Given the description of an element on the screen output the (x, y) to click on. 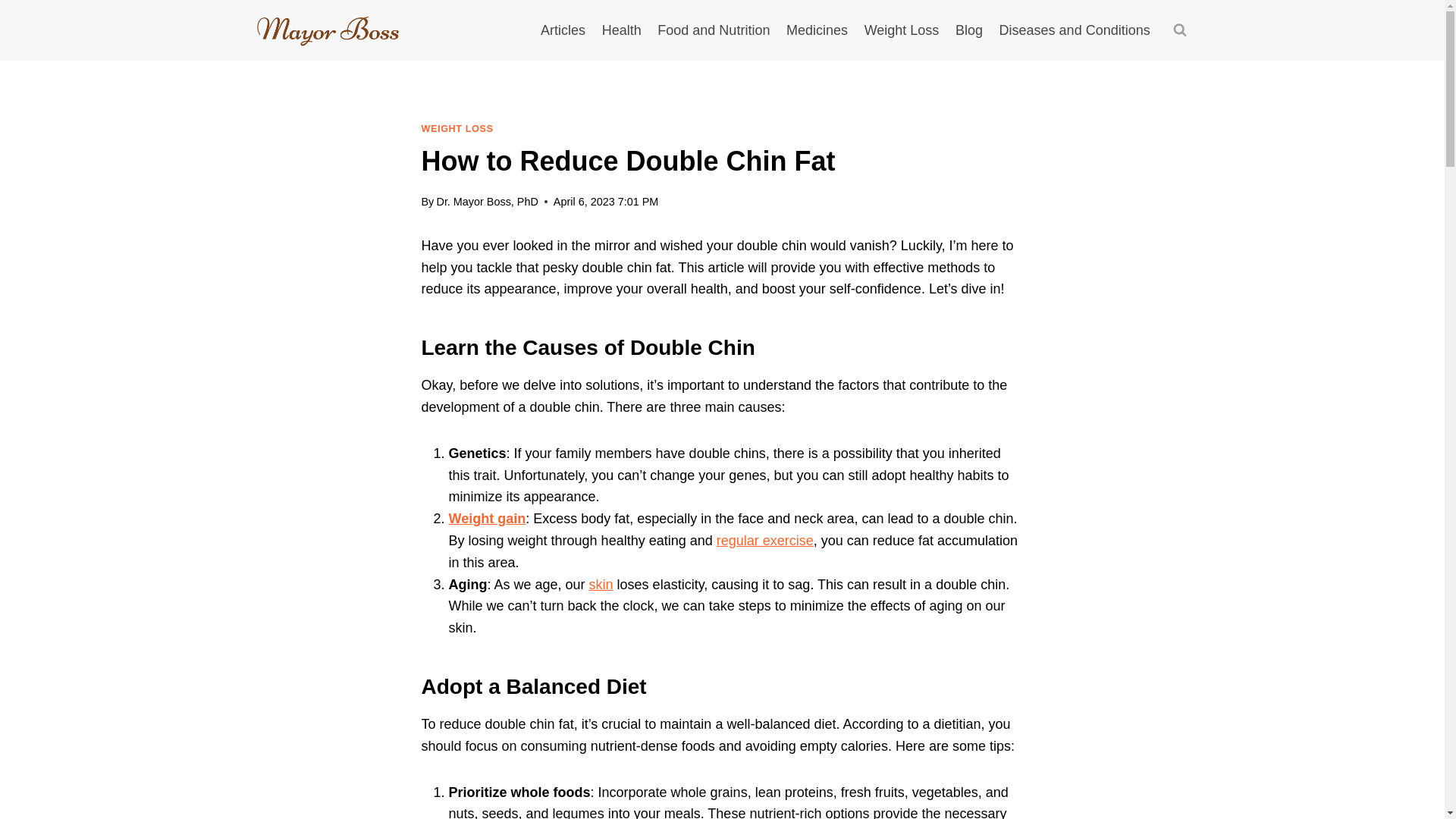
WEIGHT LOSS (457, 128)
Weight gain (486, 518)
skin (600, 584)
Blog (969, 30)
Medicines (816, 30)
regular exercise (764, 540)
Food and Nutrition (713, 30)
Weight Loss (901, 30)
Health (621, 30)
skin (600, 584)
